Given the description of an element on the screen output the (x, y) to click on. 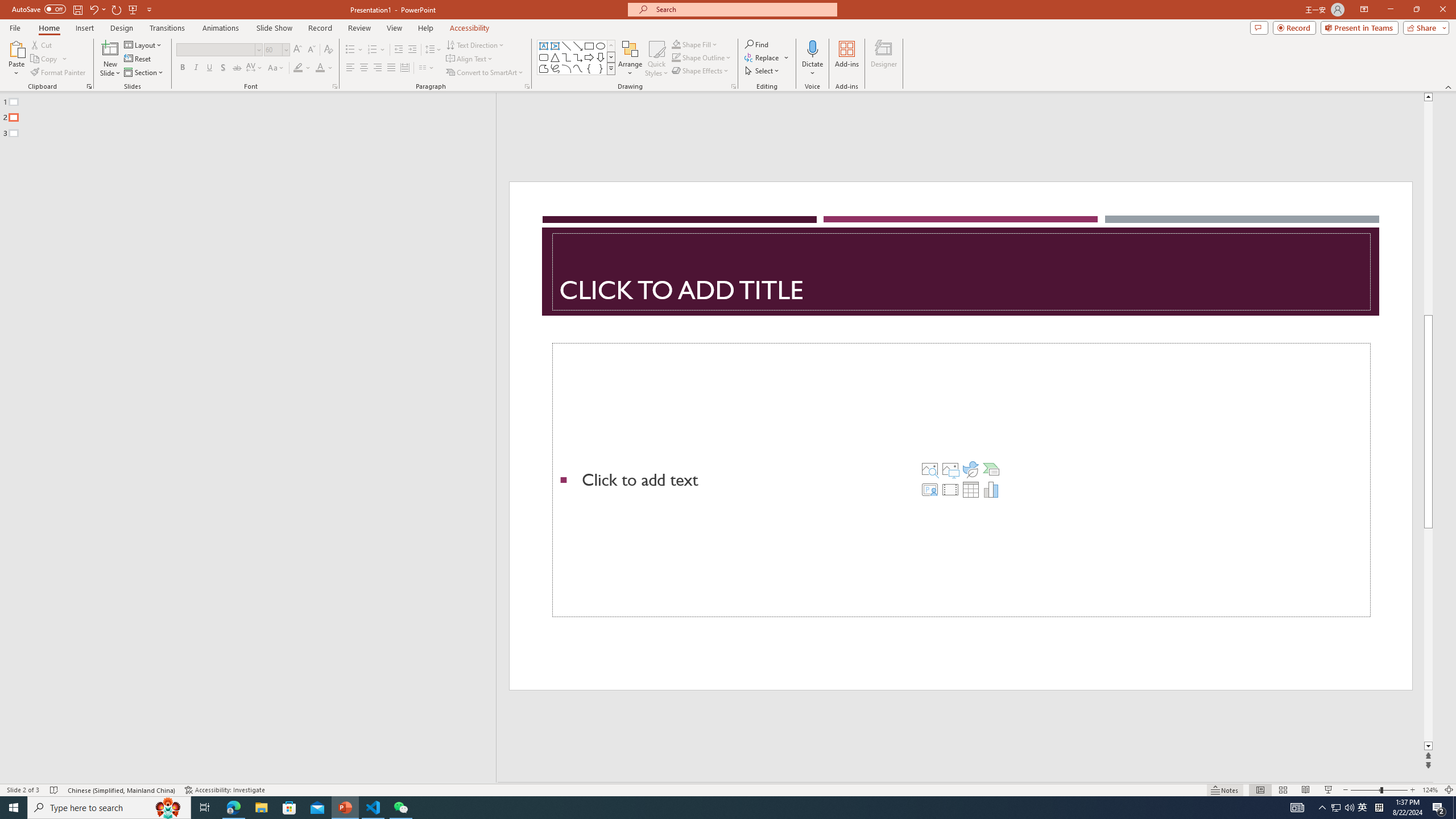
Shape Outline Blue, Accent 1 (675, 56)
Insert Cameo (929, 489)
Insert Video (949, 489)
Shape Outline (701, 56)
